Given the description of an element on the screen output the (x, y) to click on. 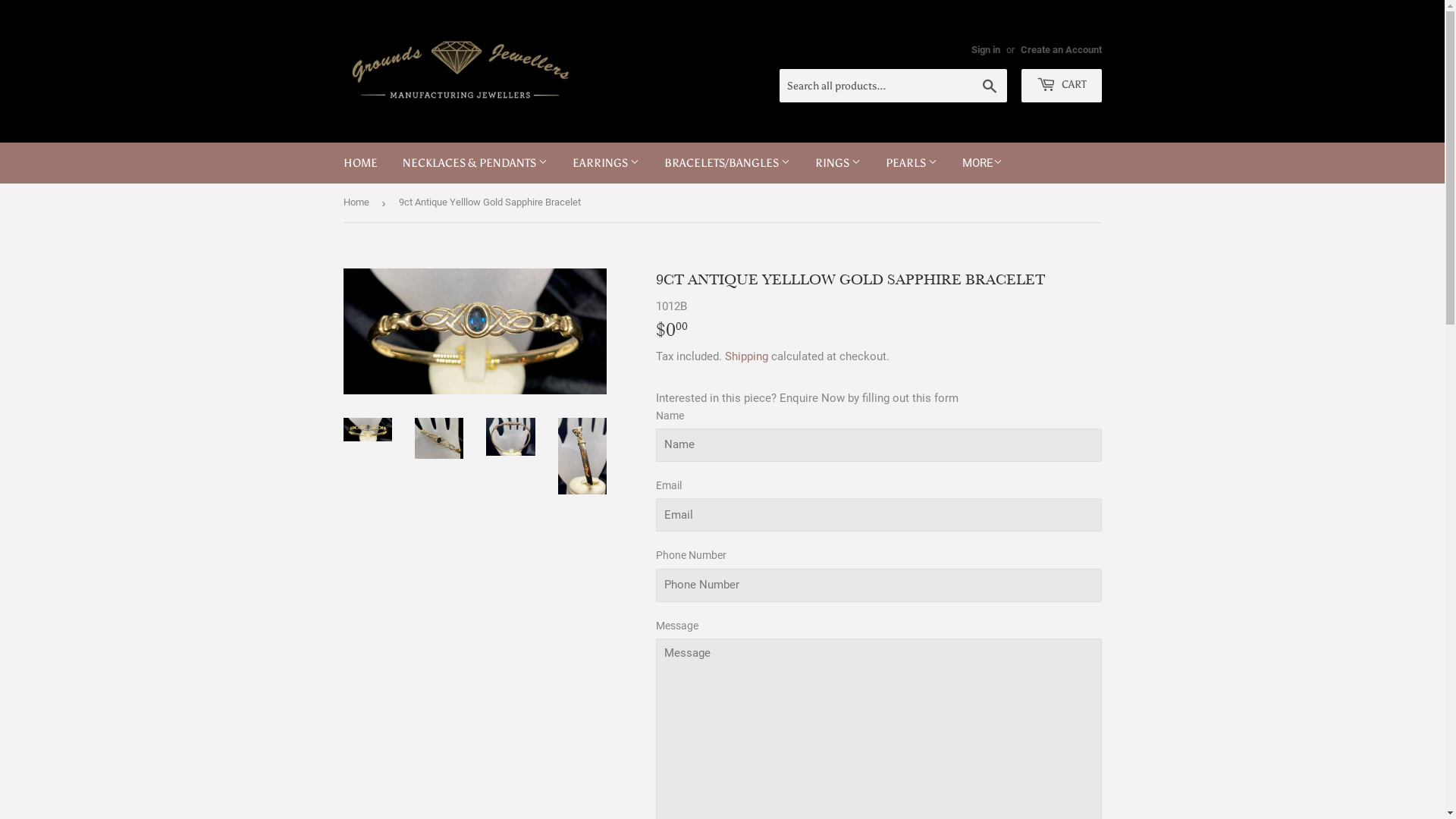
PEARLS Element type: text (910, 162)
Shipping Element type: text (746, 356)
EARRINGS Element type: text (605, 162)
Sign in Element type: text (984, 49)
NECKLACES & PENDANTS Element type: text (474, 162)
Home Element type: text (357, 202)
Search Element type: text (989, 86)
BRACELETS/BANGLES Element type: text (726, 162)
RINGS Element type: text (837, 162)
MORE Element type: text (981, 162)
HOME Element type: text (360, 162)
CART Element type: text (1060, 85)
Create an Account Element type: text (1060, 49)
